Given the description of an element on the screen output the (x, y) to click on. 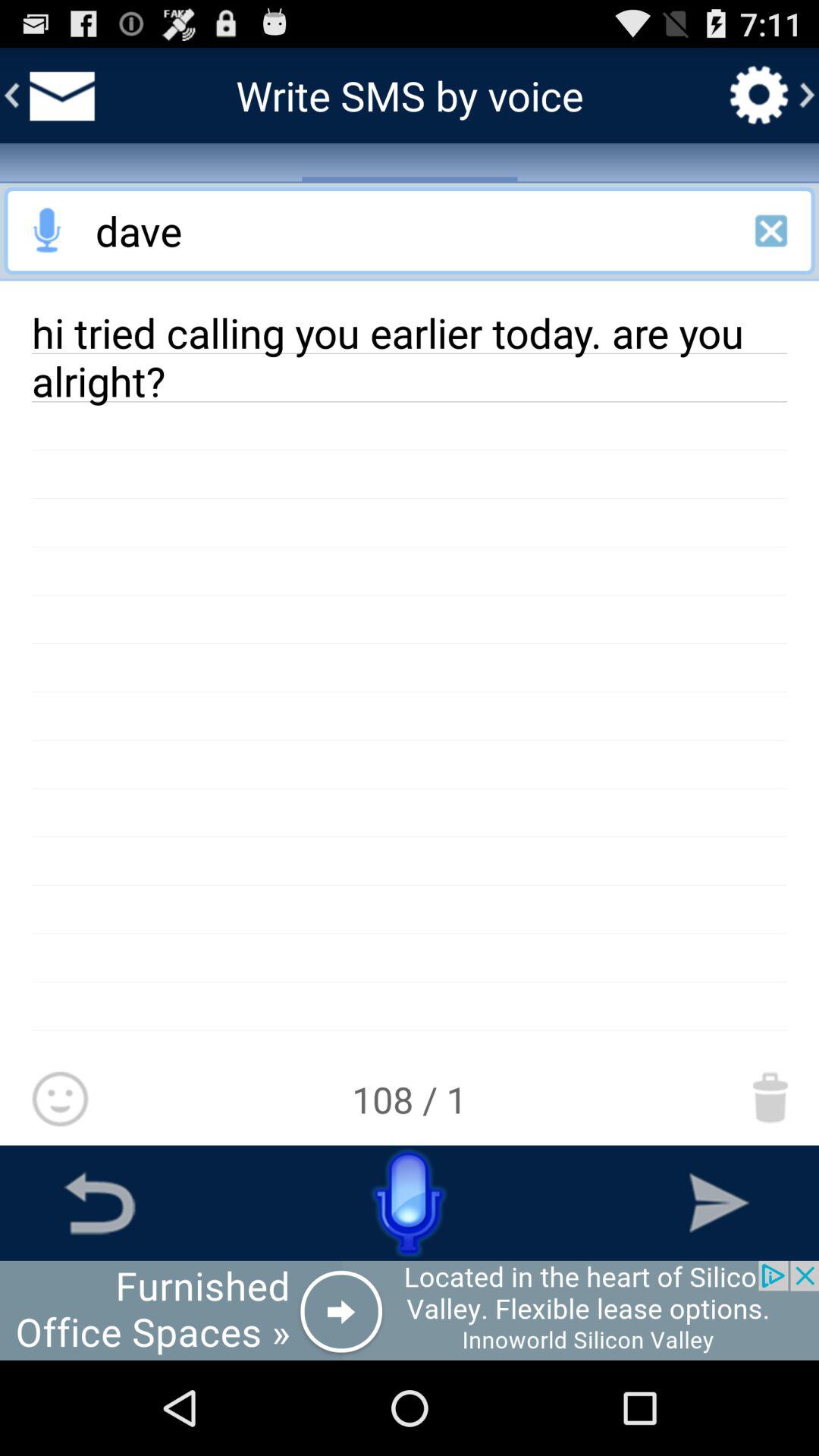
record audio (47, 230)
